Given the description of an element on the screen output the (x, y) to click on. 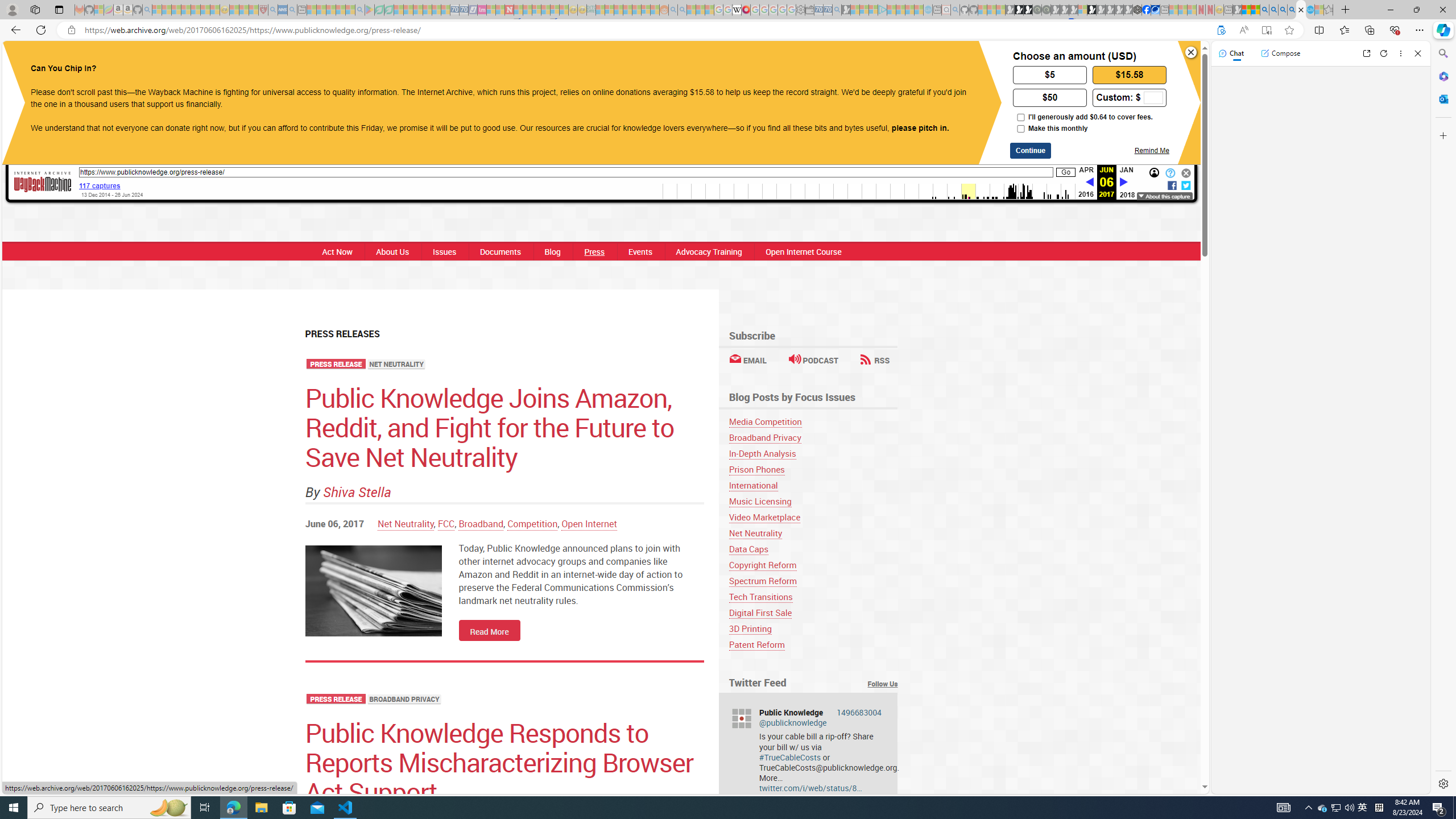
Music Licensing (813, 500)
publicknowledge (740, 718)
Next capture (1123, 182)
Prison Phones (813, 469)
